Given the description of an element on the screen output the (x, y) to click on. 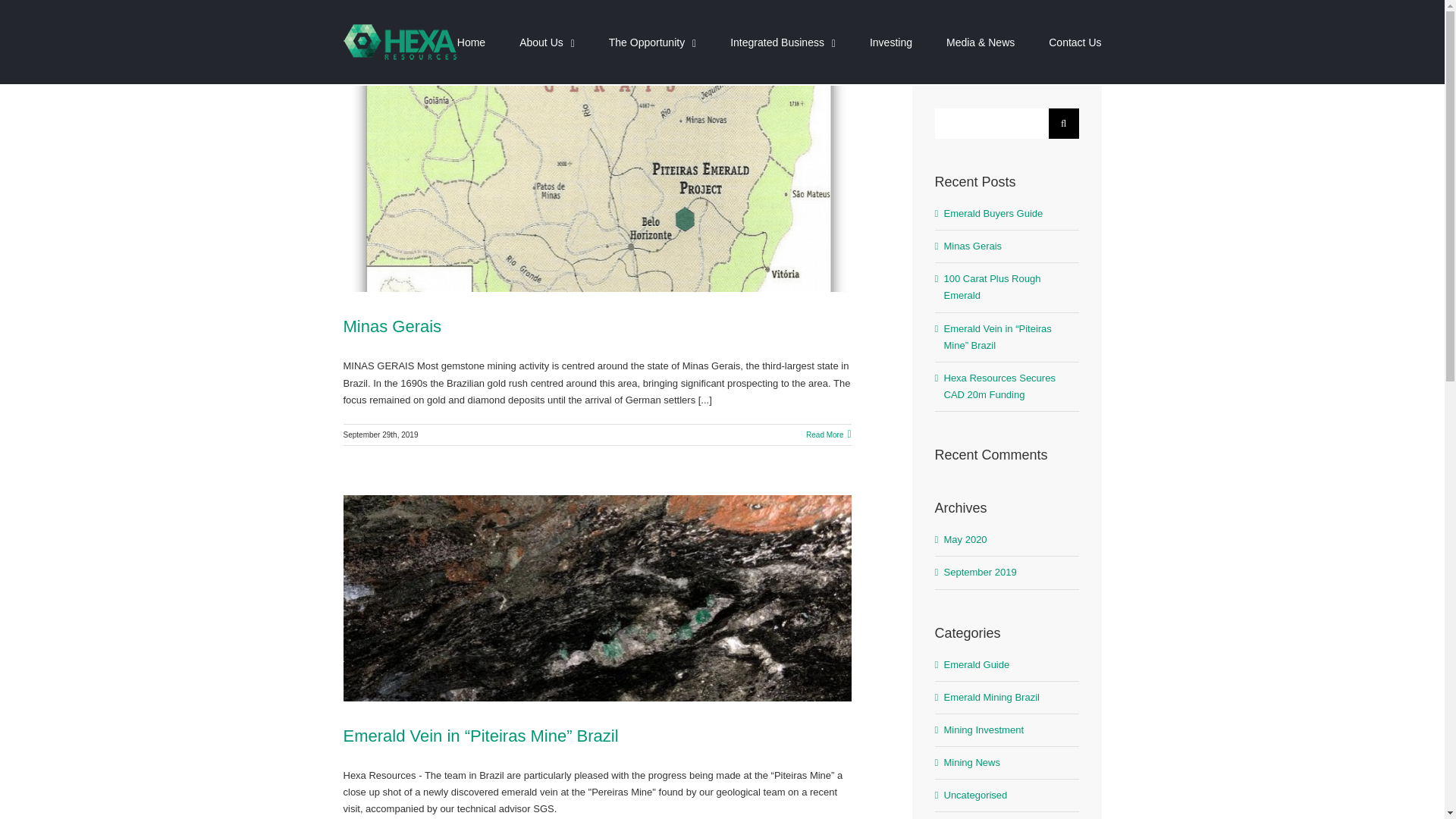
Home (470, 41)
YouTube (1087, 784)
Contact Us (1074, 41)
LinkedIn (1054, 784)
Minas Gerais (391, 325)
Integrated Business (782, 41)
Investing (890, 41)
Read More (824, 434)
Twitter (1021, 784)
About Us (547, 41)
The Opportunity (651, 41)
